Given the description of an element on the screen output the (x, y) to click on. 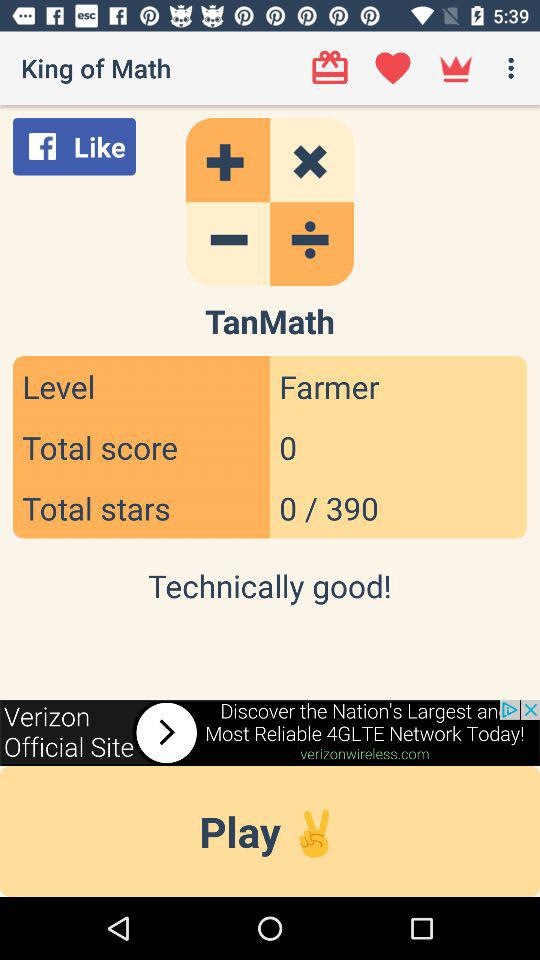
advertisement (270, 732)
